Given the description of an element on the screen output the (x, y) to click on. 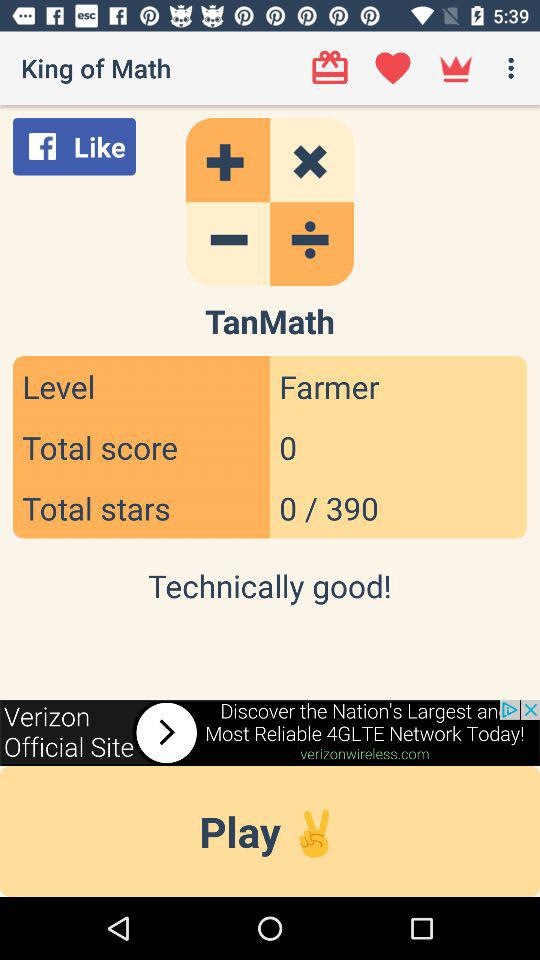
advertisement (270, 732)
